Given the description of an element on the screen output the (x, y) to click on. 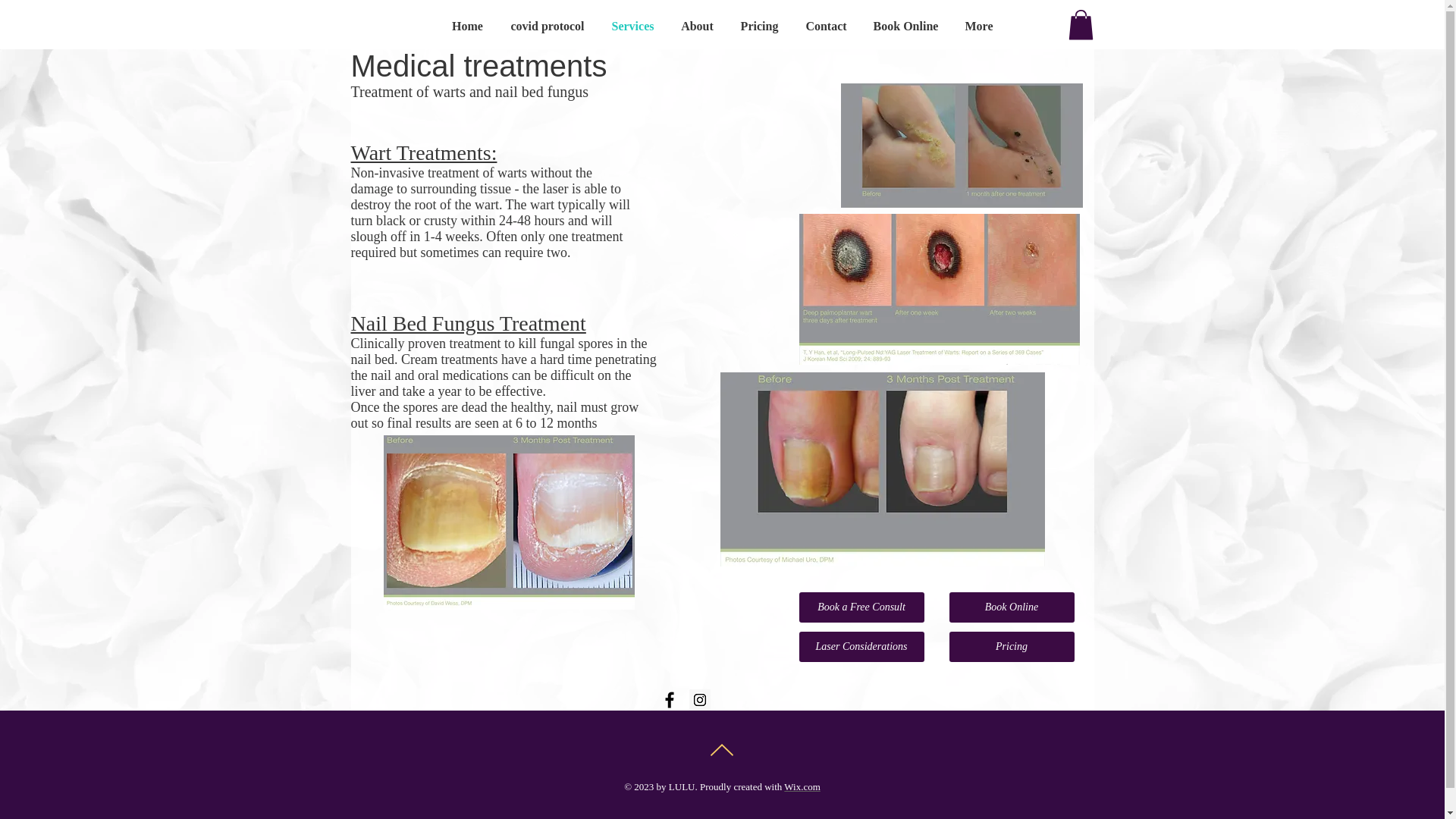
Pricing (759, 26)
About (696, 26)
Laser Considerations (861, 646)
Services (631, 26)
covid protocol (547, 26)
Contact (826, 26)
Home (467, 26)
Pricing (1011, 646)
Book Online (1011, 607)
Book Online (905, 26)
